Given the description of an element on the screen output the (x, y) to click on. 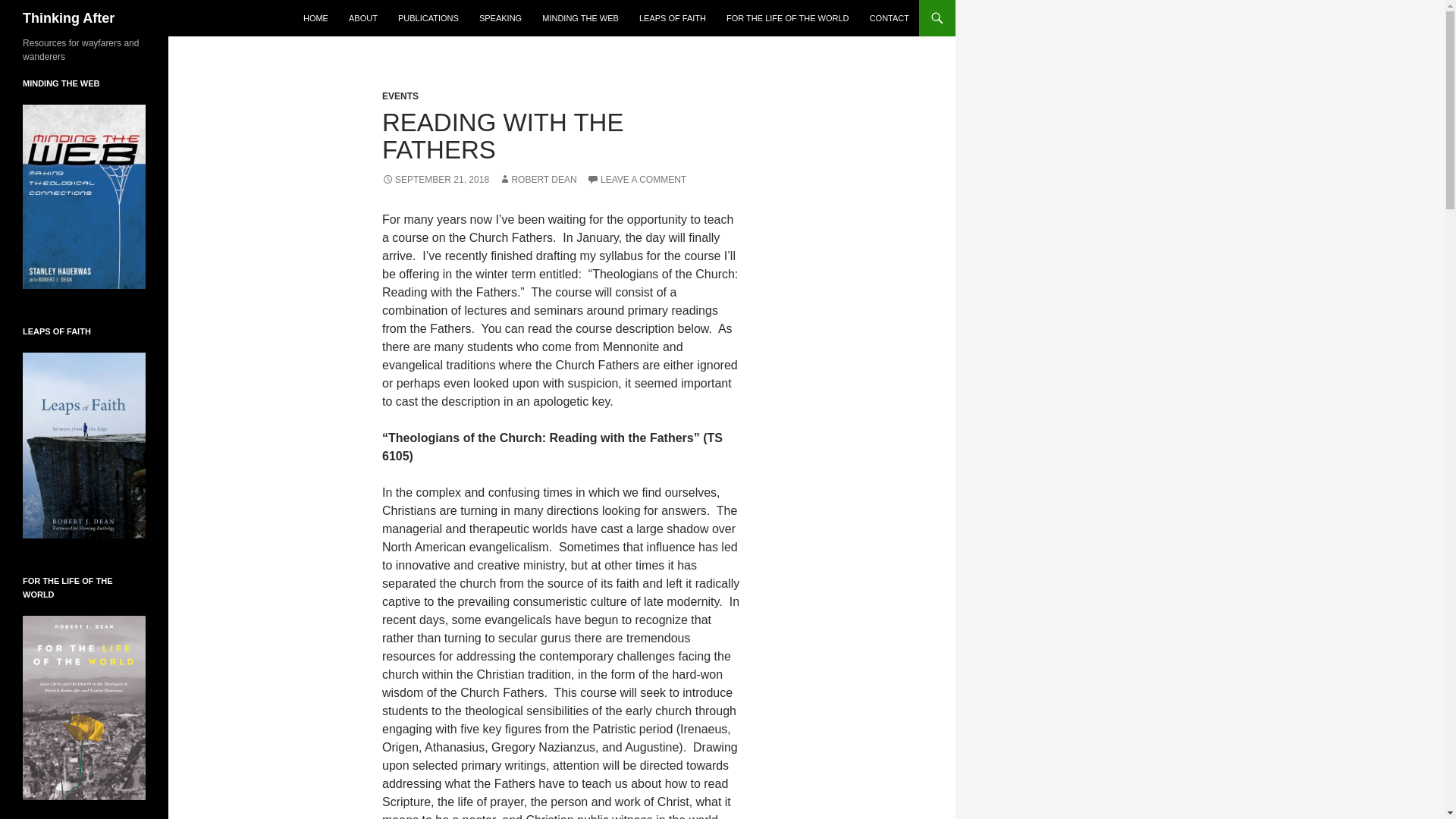
CONTACT (889, 18)
ROBERT DEAN (537, 179)
ABOUT (363, 18)
FOR THE LIFE OF THE WORLD (788, 18)
SEPTEMBER 21, 2018 (435, 179)
HOME (315, 18)
Search (30, 8)
Thinking After (69, 18)
LEAVE A COMMENT (635, 179)
